Given the description of an element on the screen output the (x, y) to click on. 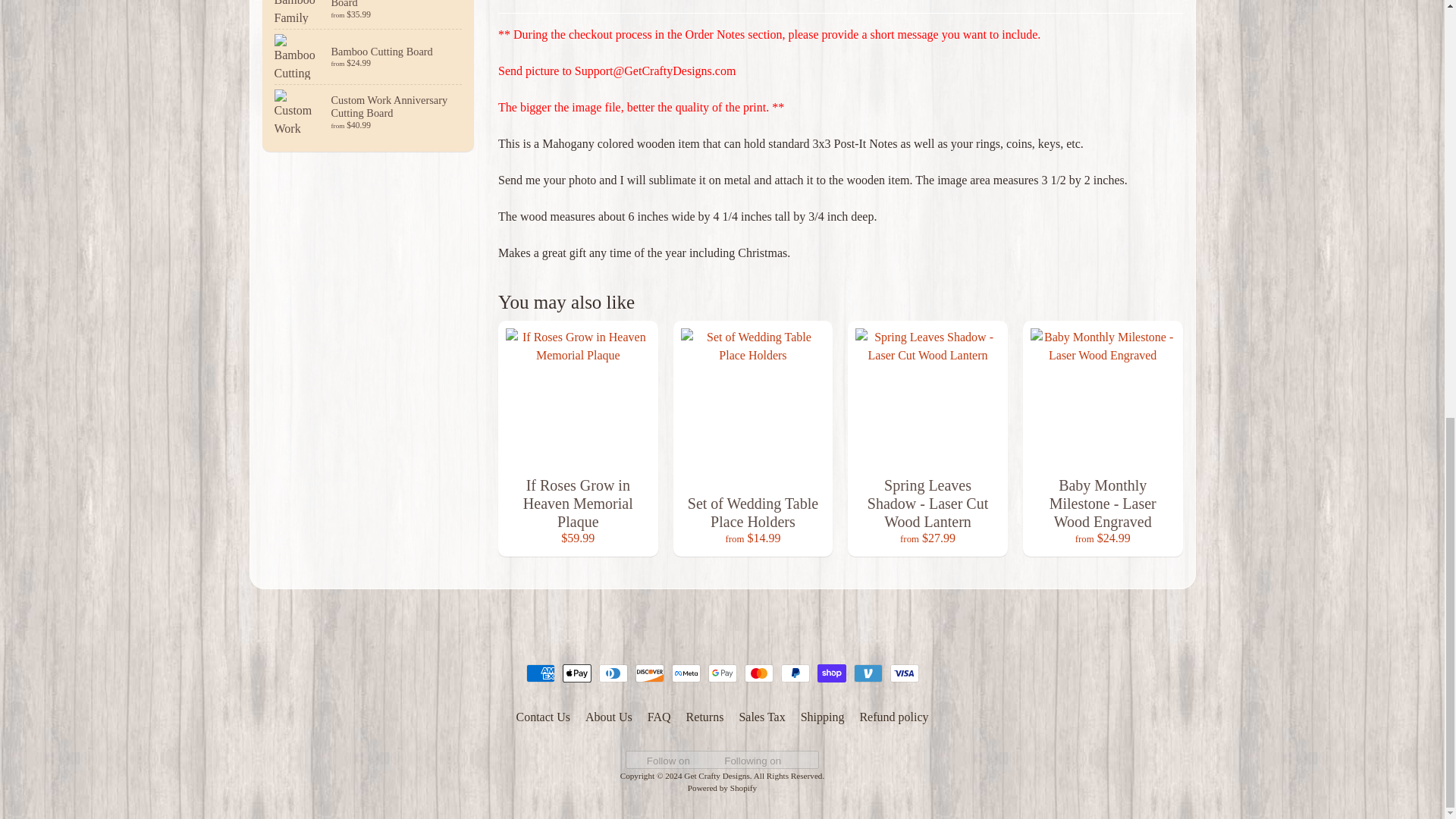
Venmo (867, 673)
Bamboo Family Cutting Board (369, 14)
Apple Pay (576, 673)
Meta Pay (685, 673)
Custom Work Anniversary Cutting Board (369, 112)
Mastercard (758, 673)
Diners Club (612, 673)
Shop Pay (830, 673)
Visa (903, 673)
Bamboo Cutting Board (369, 56)
